Given the description of an element on the screen output the (x, y) to click on. 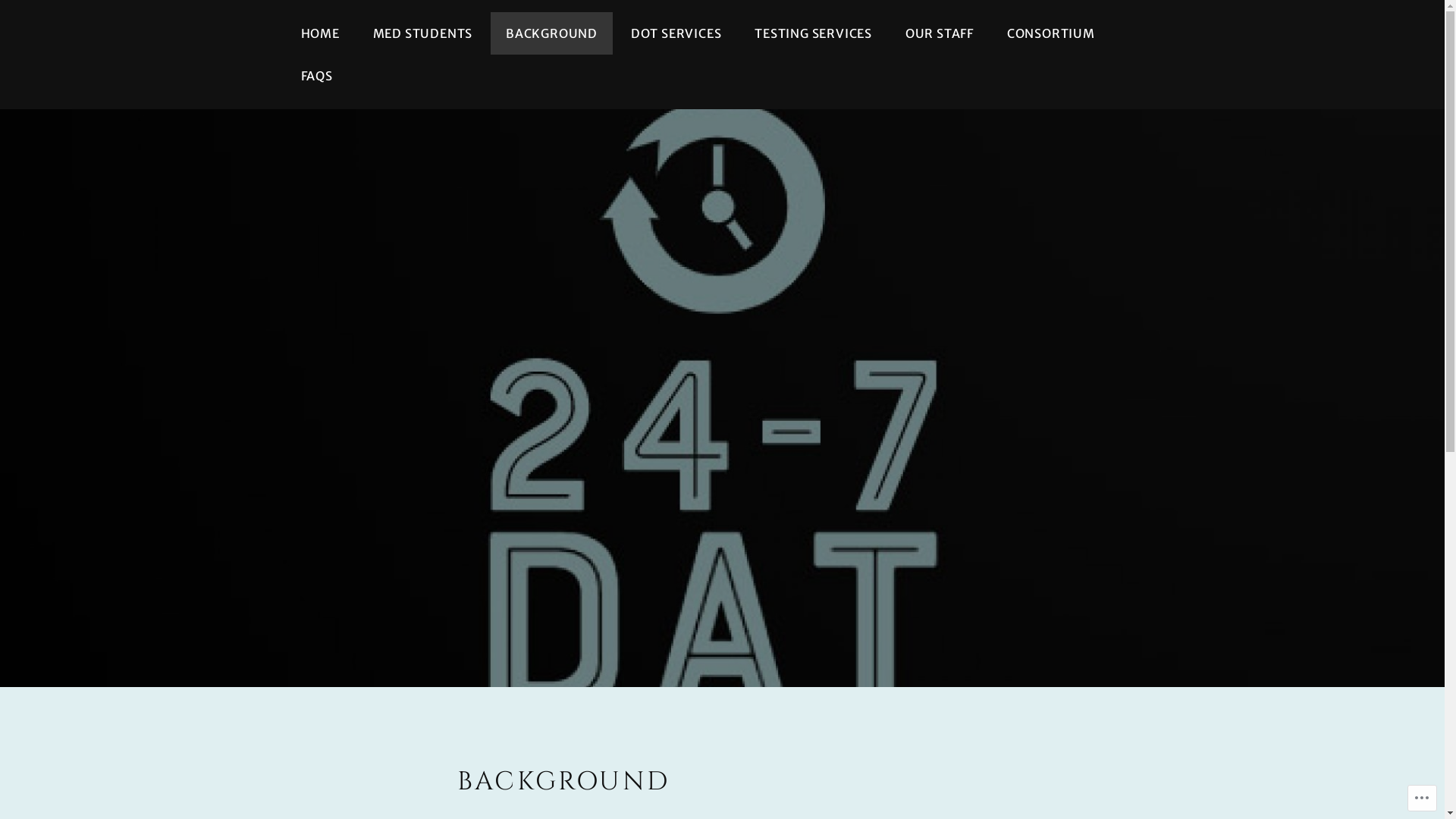
BACKGROUND Element type: text (551, 33)
CONSORTIUM Element type: text (1050, 33)
MED STUDENTS Element type: text (422, 33)
DOT SERVICES Element type: text (676, 33)
OUR STAFF Element type: text (939, 33)
24-7 DAT Element type: text (773, 465)
HOME Element type: text (319, 33)
TESTING SERVICES Element type: text (813, 33)
FAQS Element type: text (316, 75)
